Given the description of an element on the screen output the (x, y) to click on. 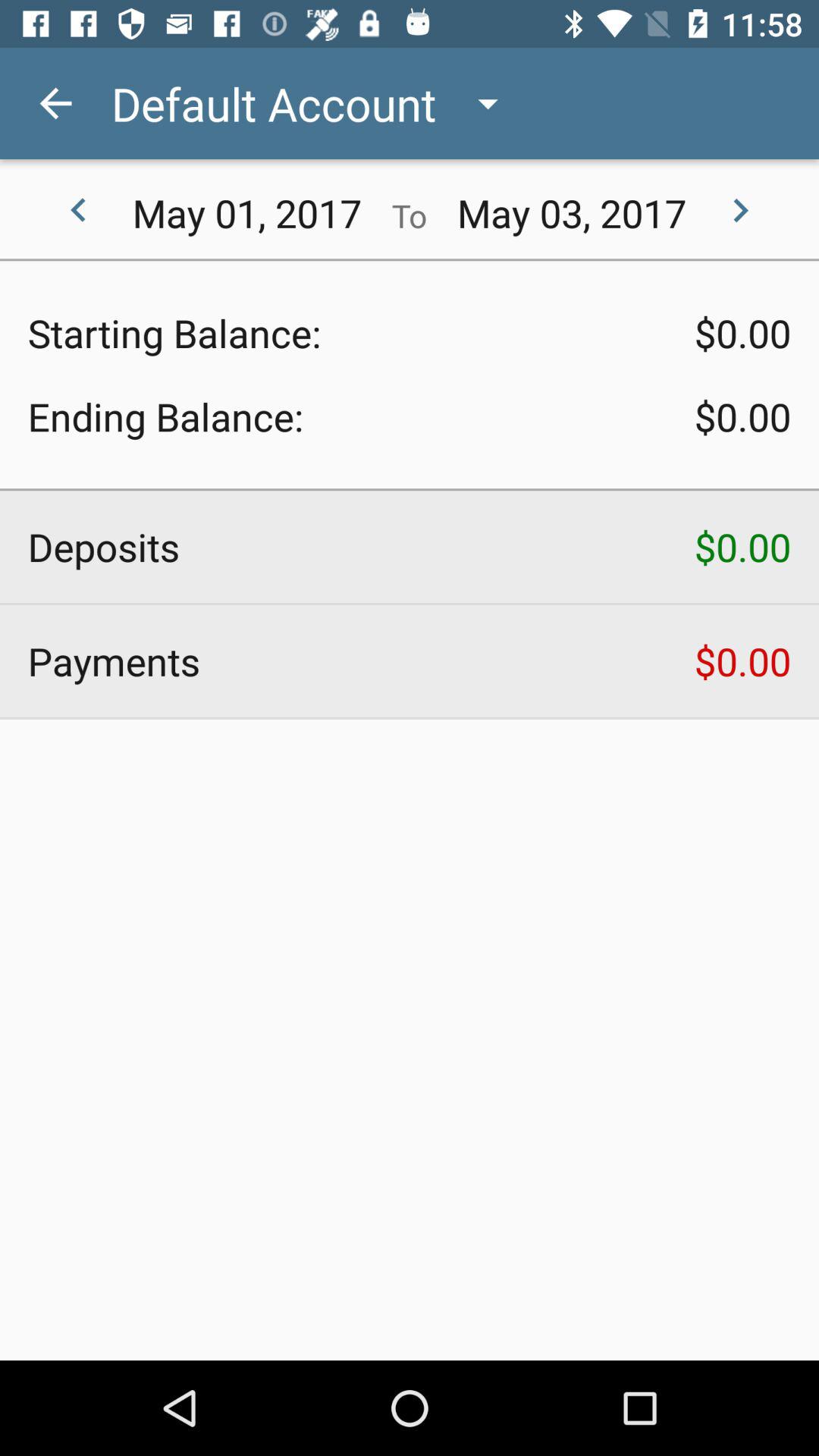
press the icon next to may 03, 2017 item (740, 210)
